Given the description of an element on the screen output the (x, y) to click on. 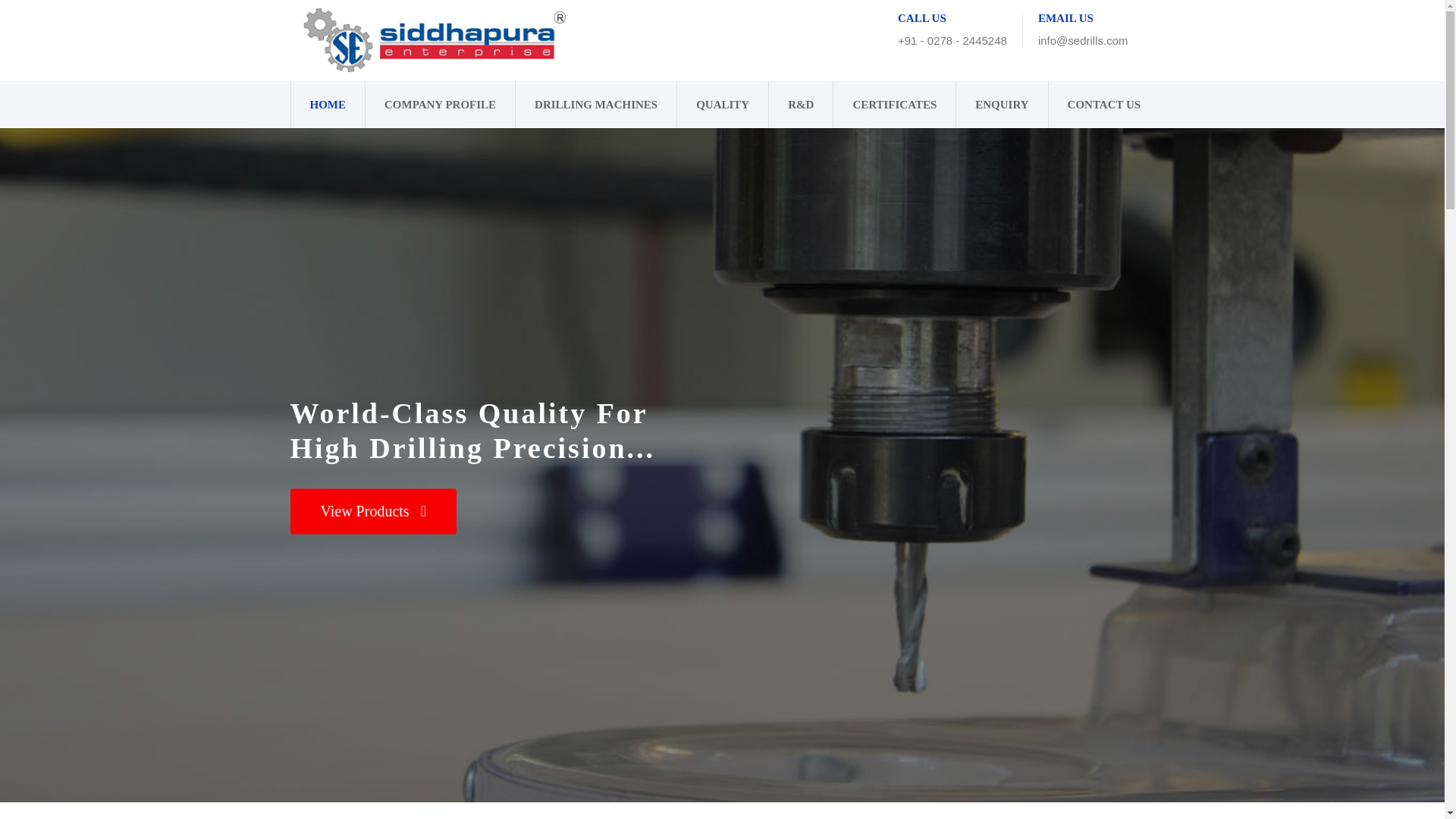
2 (721, 761)
CONTACT US (1094, 104)
3 (739, 761)
COMPANY PROFILE (440, 104)
View Products (372, 511)
1 (704, 761)
CERTIFICATES (893, 104)
DRILLING MACHINES (596, 104)
ENQUIRY (1001, 104)
HOME (328, 104)
QUALITY (722, 104)
